Given the description of an element on the screen output the (x, y) to click on. 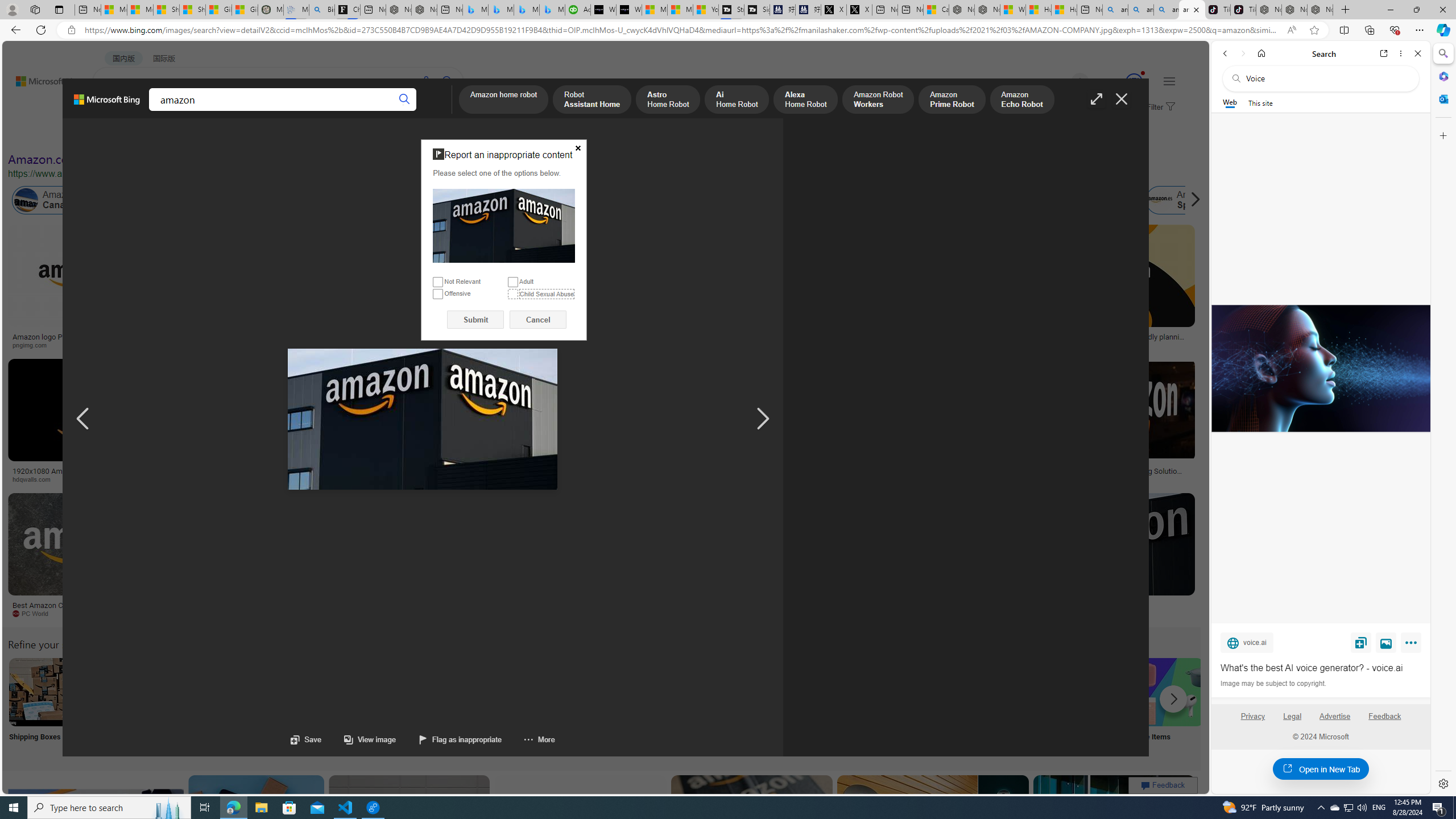
manilashaker.com (722, 613)
Image size (126, 135)
Prime Label (1018, 706)
Amazon Sale Items (1169, 691)
Jobs Near Me (342, 706)
Amazon Robot Workers (878, 100)
The Verge (190, 612)
Layout (253, 135)
People (295, 135)
Full screen (1096, 99)
